Given the description of an element on the screen output the (x, y) to click on. 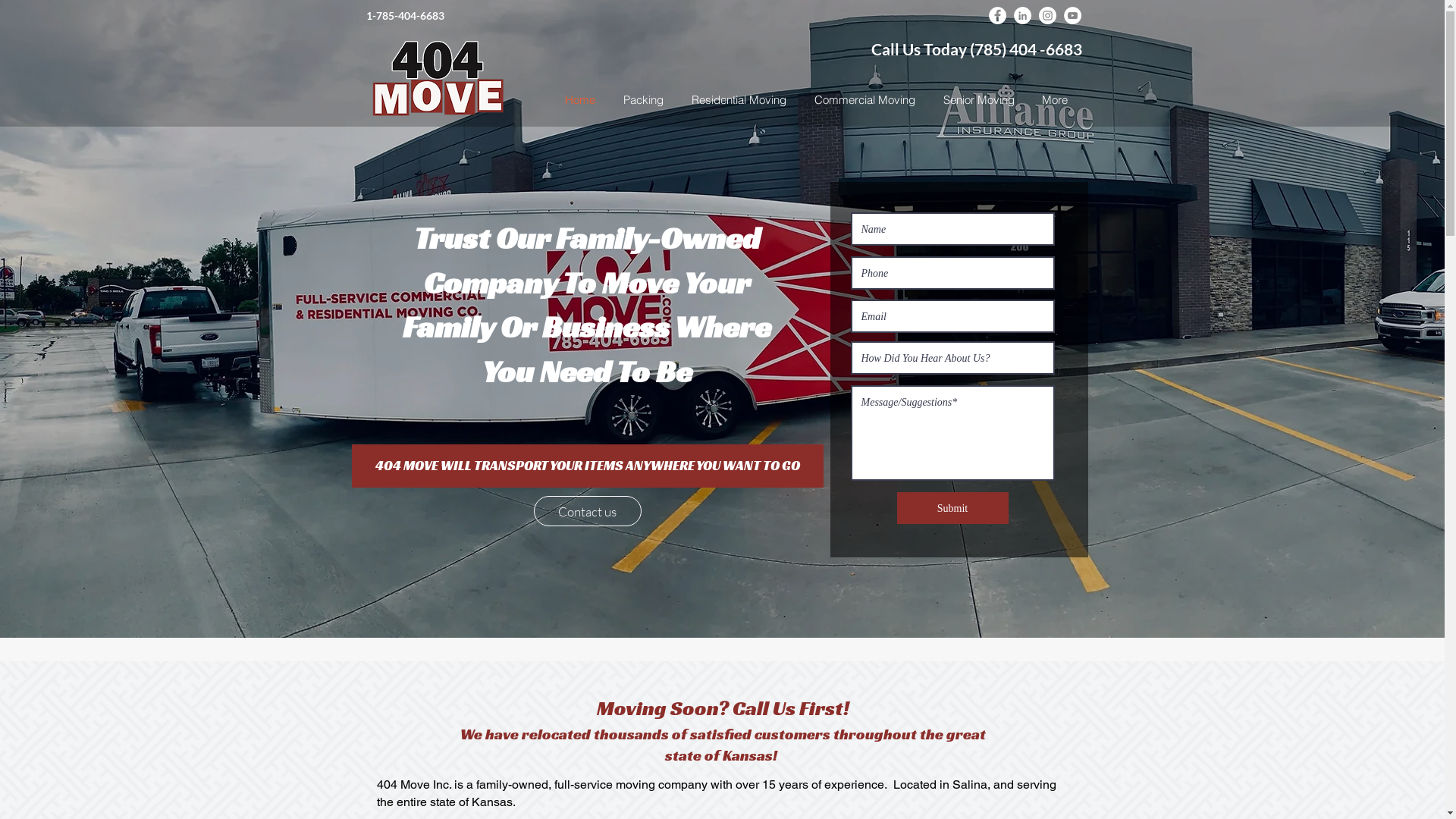
Packing Element type: text (643, 100)
Residential Moving Element type: text (738, 97)
Senior Moving Element type: text (978, 97)
Home Element type: text (579, 97)
Commercial Moving Element type: text (864, 100)
Home Element type: text (579, 100)
Submit Element type: text (951, 508)
Commercial Moving Element type: text (864, 97)
Packing Element type: text (643, 97)
Senior Moving Element type: text (978, 100)
Residential Moving Element type: text (738, 100)
Contact us Element type: text (587, 510)
